Given the description of an element on the screen output the (x, y) to click on. 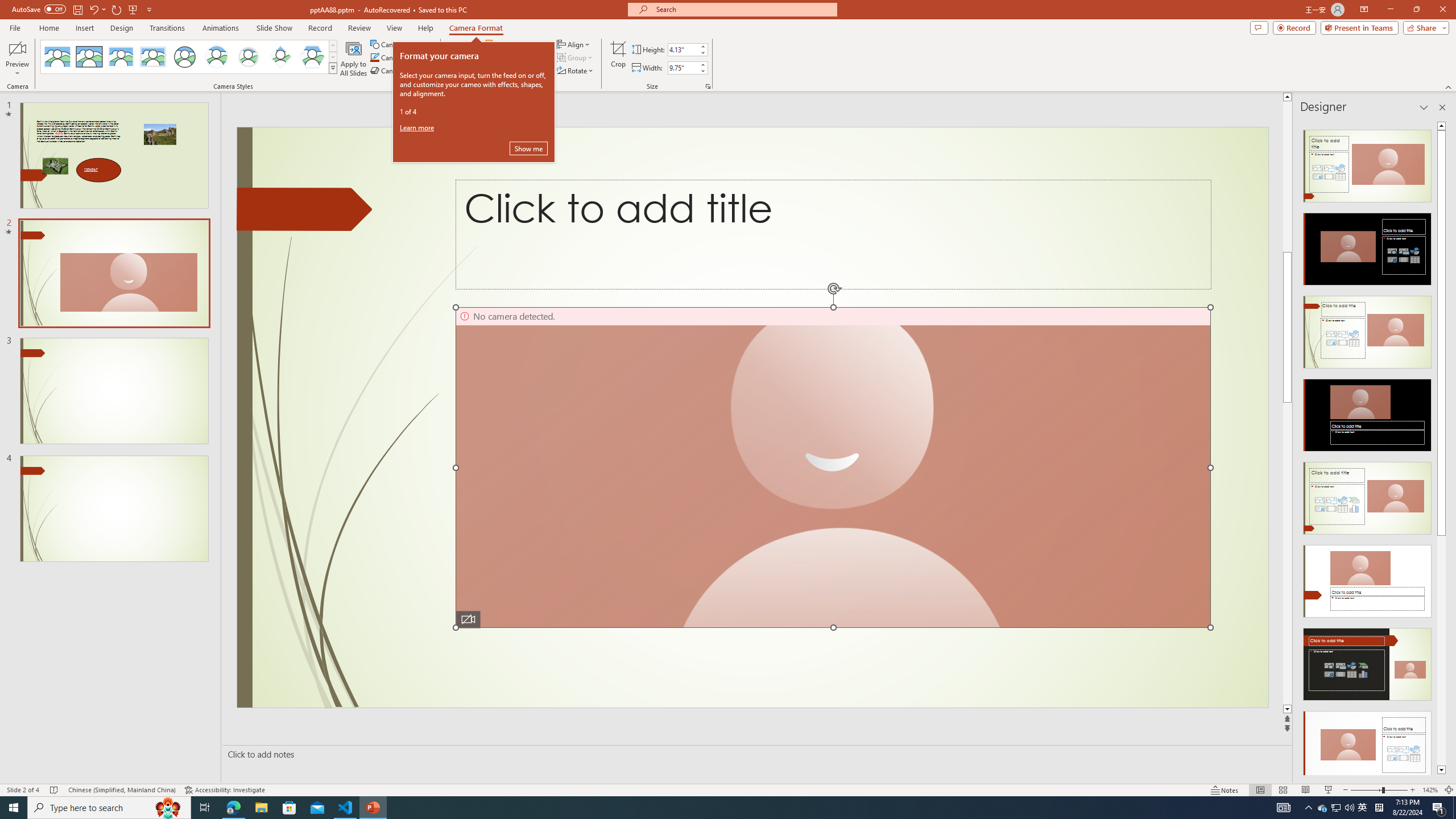
Camera Effects (402, 69)
Selection Pane... (513, 69)
Design Idea (1366, 743)
Bring Forward (517, 44)
Crop (617, 58)
Show me (528, 148)
